Given the description of an element on the screen output the (x, y) to click on. 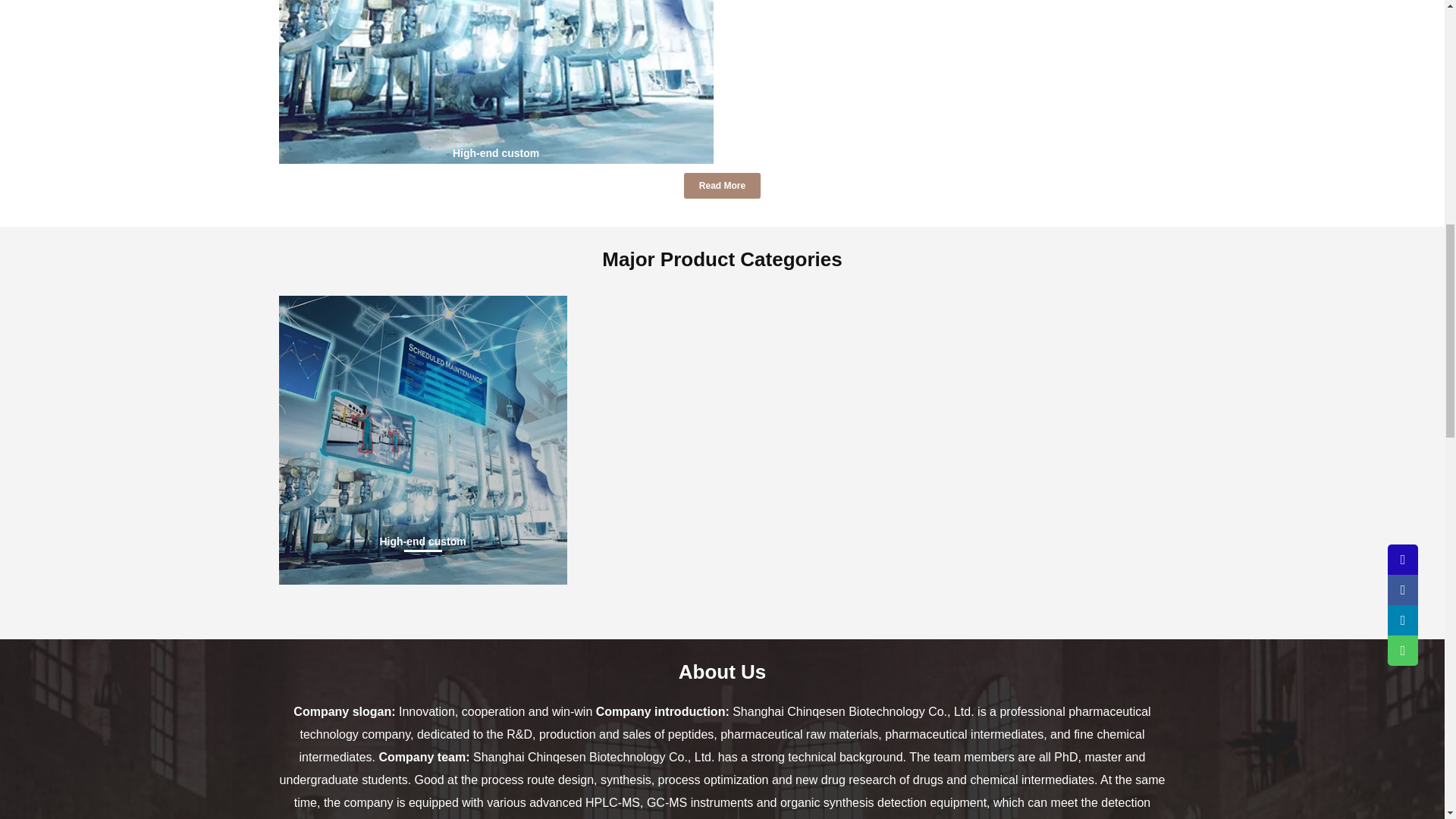
Read More (722, 185)
High-end custom (495, 152)
High-end custom (423, 439)
High-end custom (495, 152)
Read More (722, 185)
High-end custom (423, 541)
High-end custom (423, 541)
High-end custom (496, 81)
